Given the description of an element on the screen output the (x, y) to click on. 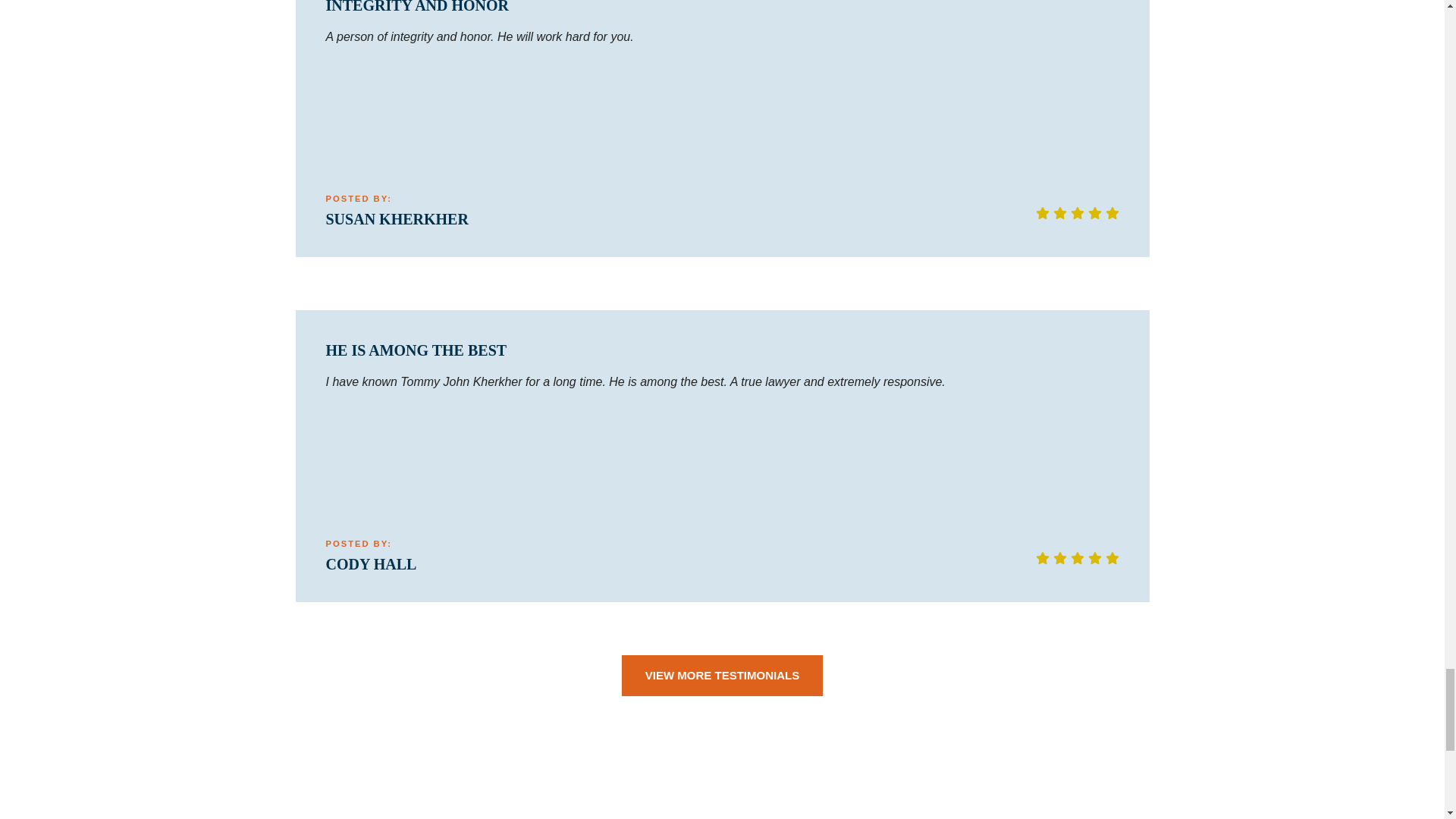
VIEW MORE TESTIMONIALS (721, 675)
